Given the description of an element on the screen output the (x, y) to click on. 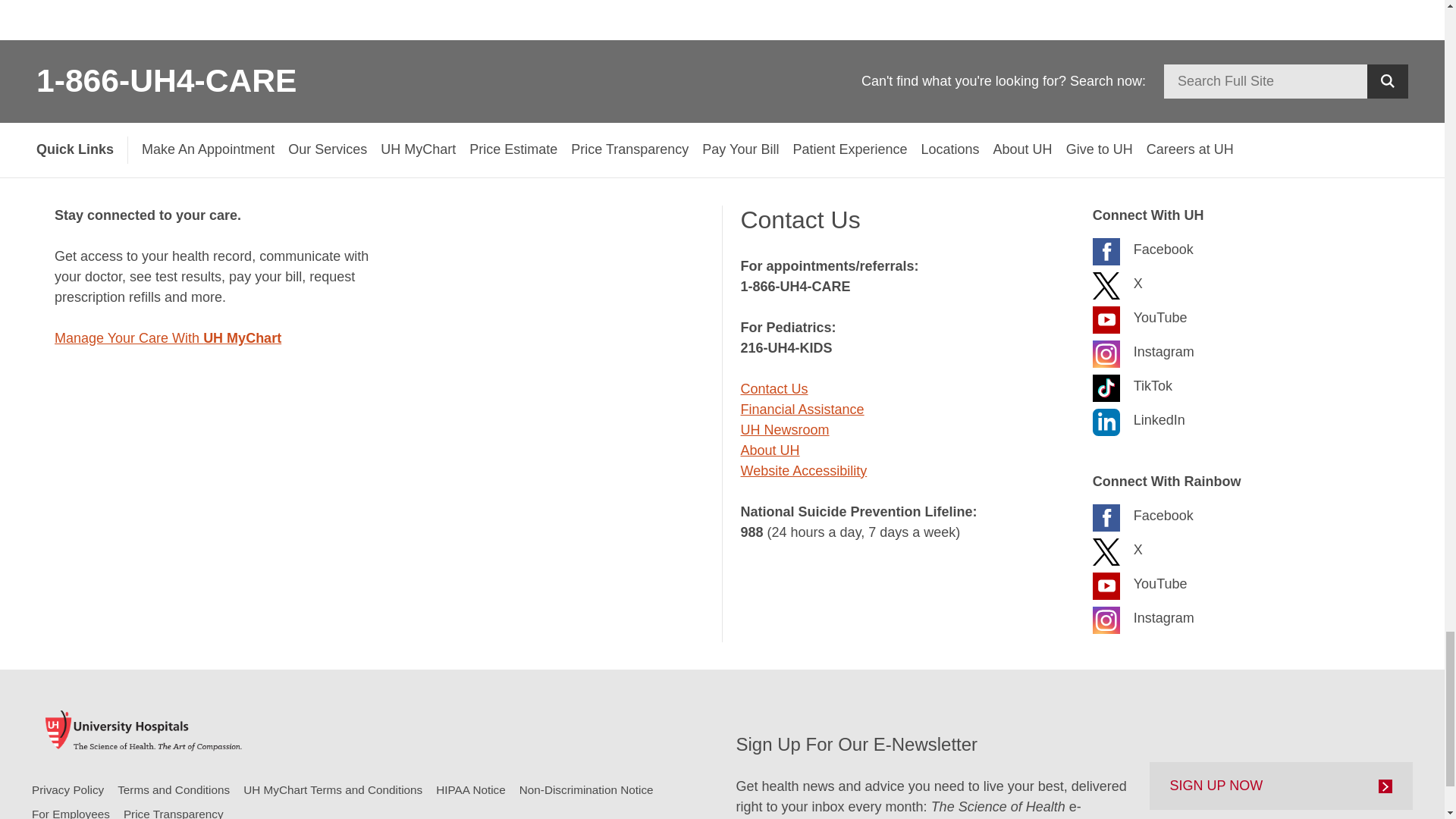
Search (1387, 81)
